Given the description of an element on the screen output the (x, y) to click on. 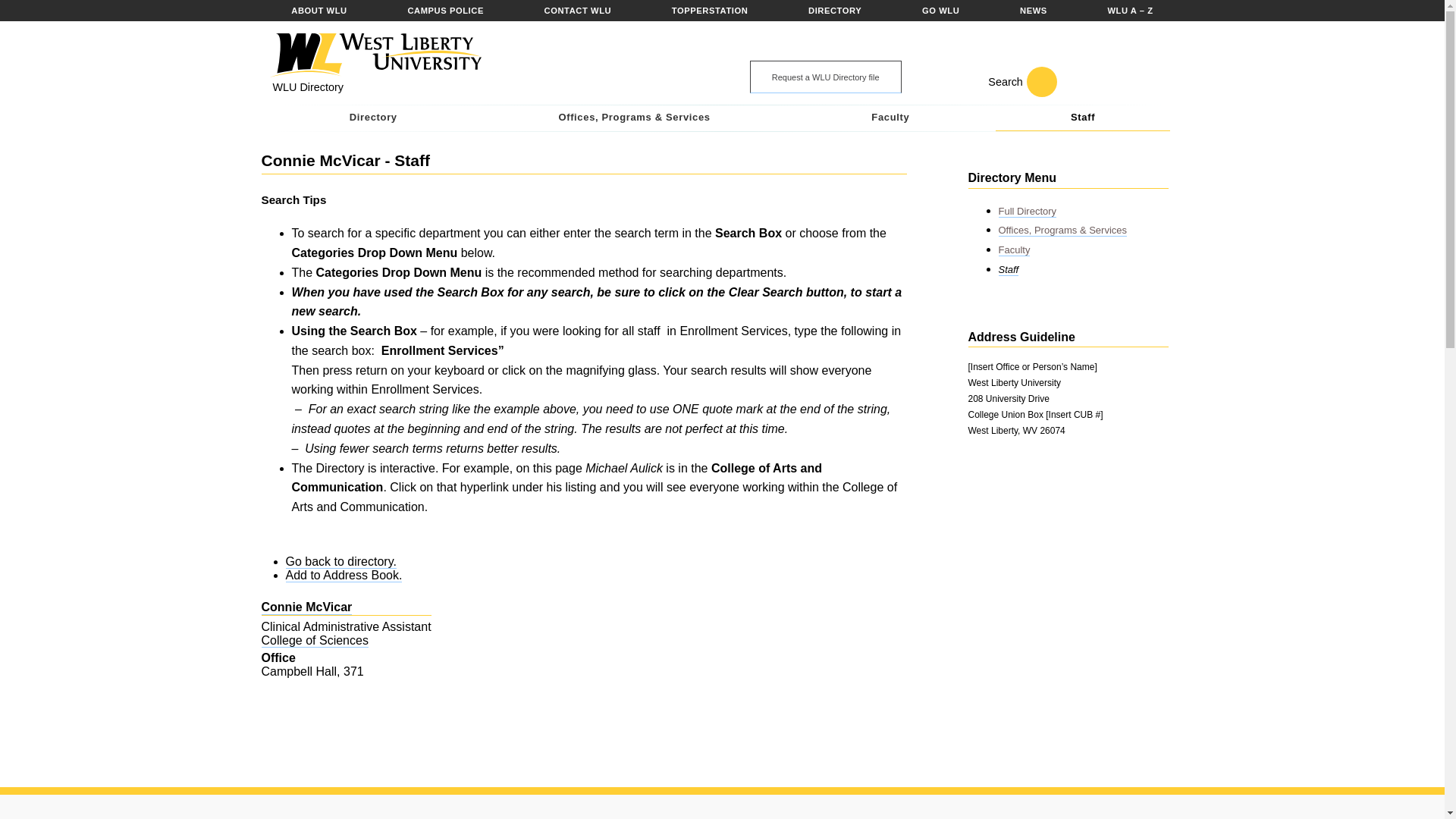
Add to Address Book. (343, 575)
Faculty (890, 118)
TOPPERSTATION (709, 10)
Go back to directory. (340, 561)
CAMPUS POLICE (445, 10)
Connie McVicar (306, 606)
CONTACT WLU (577, 10)
Staff (1007, 269)
Download vCard (343, 575)
ABOUT WLU (318, 10)
NEWS (1033, 10)
College of Sciences (314, 640)
Full Directory (1027, 211)
West Liberty University (373, 54)
Staff (1083, 118)
